Given the description of an element on the screen output the (x, y) to click on. 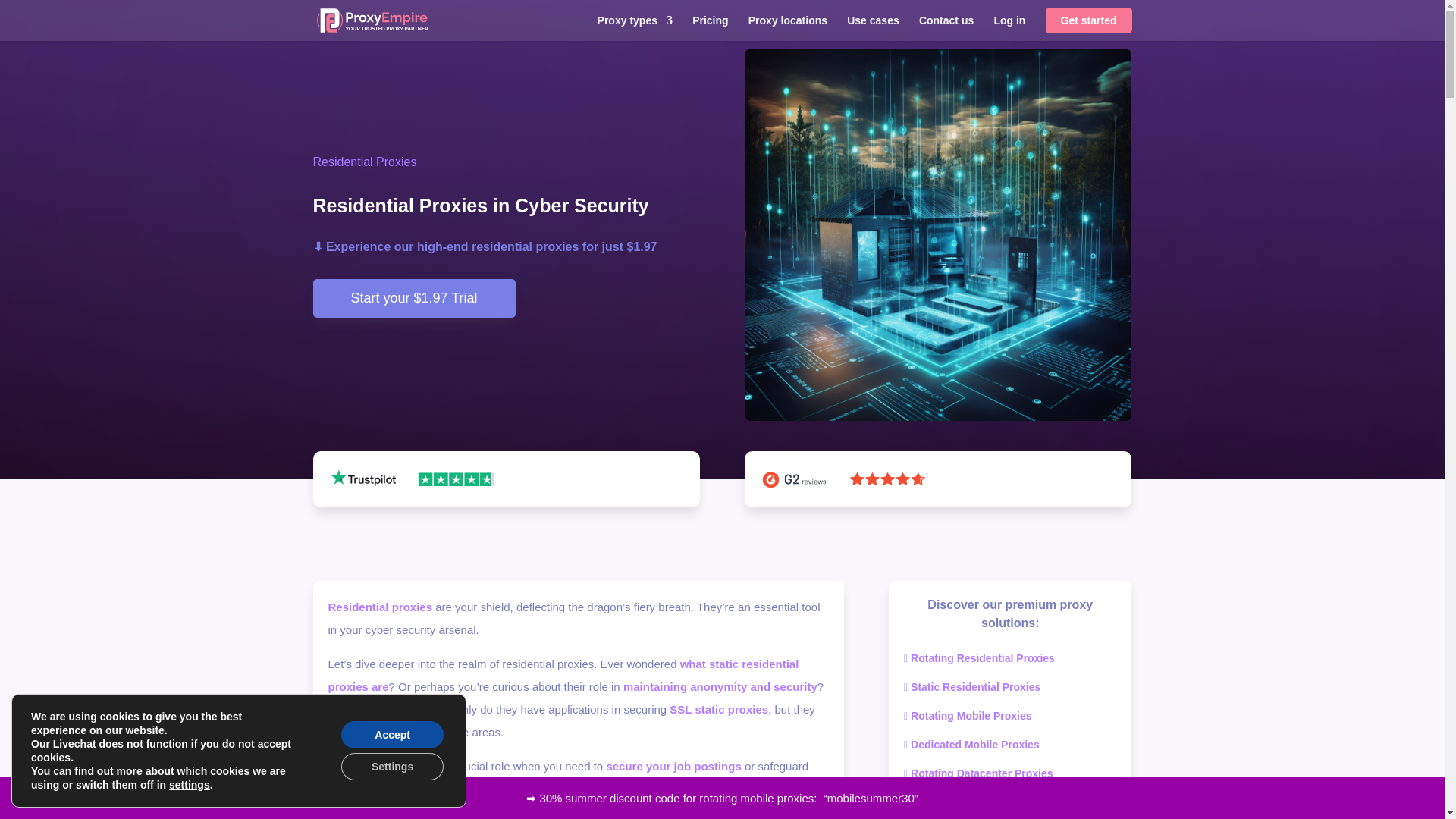
SSL static proxies (718, 708)
Contact us (946, 27)
Proxy locations (787, 27)
Pricing (710, 27)
secure your job postings (673, 766)
finance data aggregation (571, 800)
what static residential proxies are (562, 674)
remote employees (377, 788)
Use cases (873, 27)
Residential Proxies (364, 161)
maintaining anonymity and security (719, 686)
Proxy types (634, 27)
Get started (1088, 20)
Residential proxies (379, 606)
Log in (1008, 27)
